Given the description of an element on the screen output the (x, y) to click on. 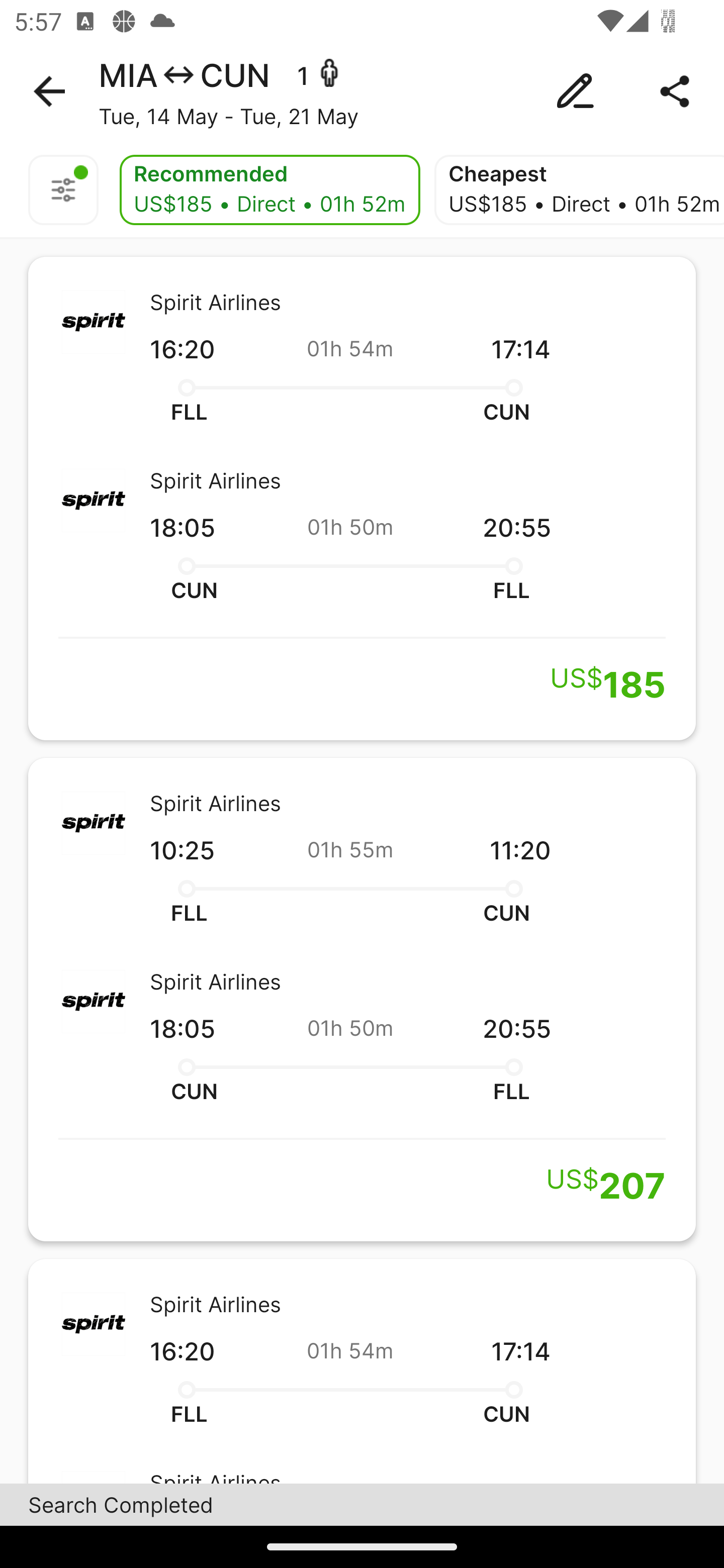
MIA CUN   1 - Tue, 14 May - Tue, 21 May (361, 91)
Recommended  US$185 • Direct • 01h 52m (269, 190)
Cheapest US$185 • Direct • 01h 52m (579, 190)
